Given the description of an element on the screen output the (x, y) to click on. 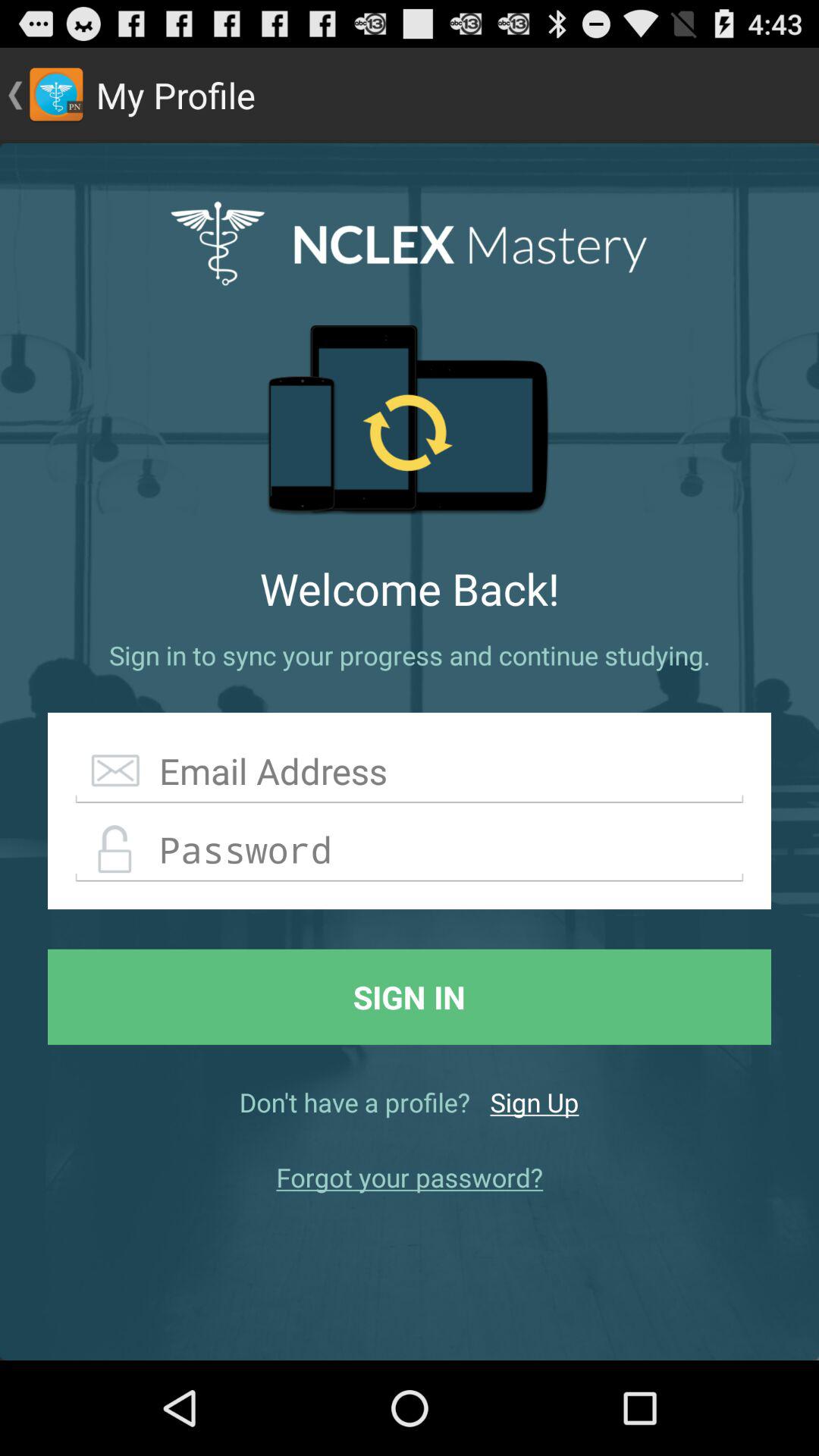
click sign up icon (534, 1101)
